Given the description of an element on the screen output the (x, y) to click on. 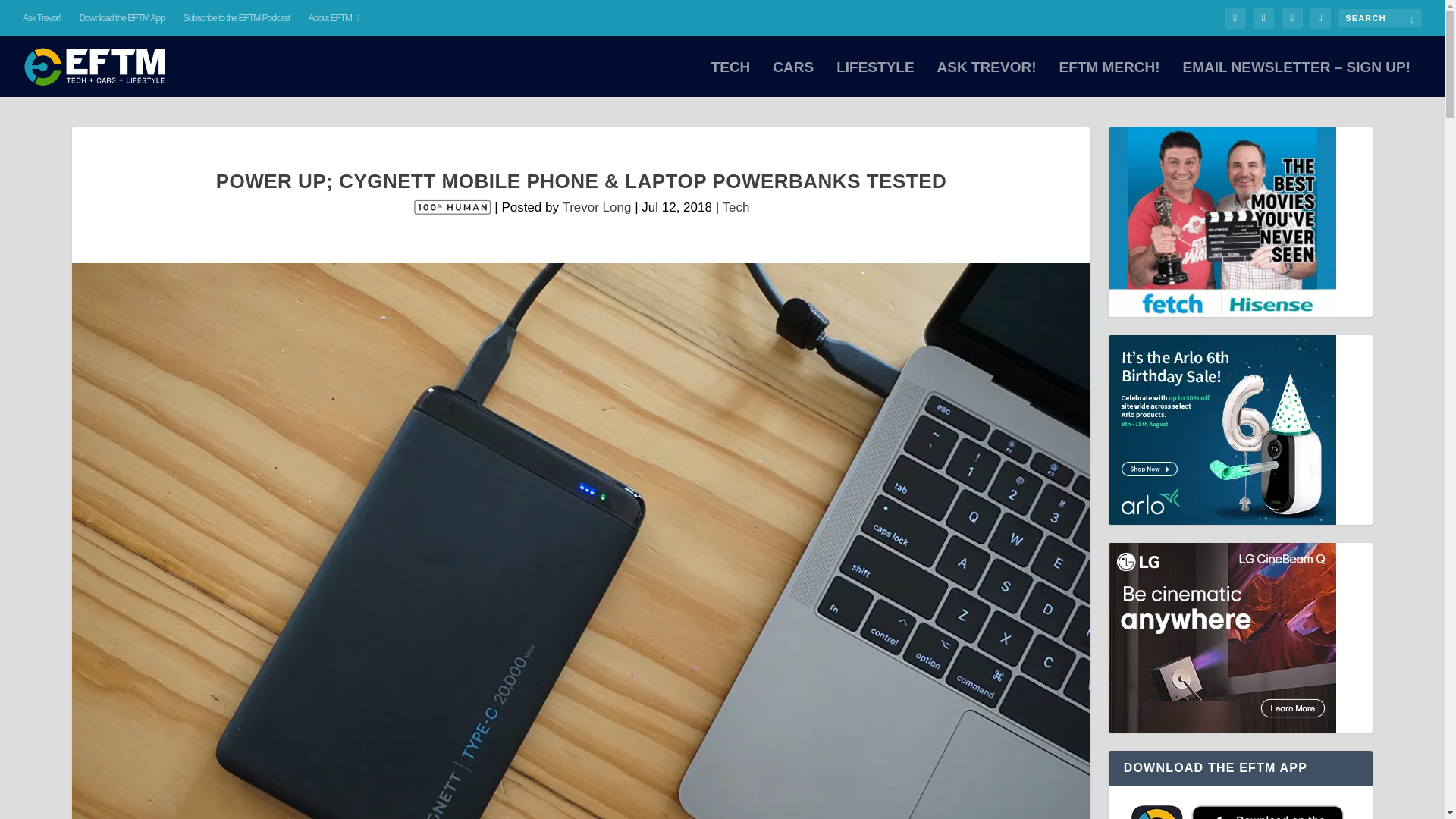
Posts by Trevor Long (596, 206)
Download the EFTM App (120, 18)
TECH (731, 79)
CARS (793, 79)
ASK TREVOR! (986, 79)
LIFESTYLE (874, 79)
Search for: (1380, 18)
Ask Trevor! (42, 18)
About EFTM (333, 18)
Trevor Long (596, 206)
